Given the description of an element on the screen output the (x, y) to click on. 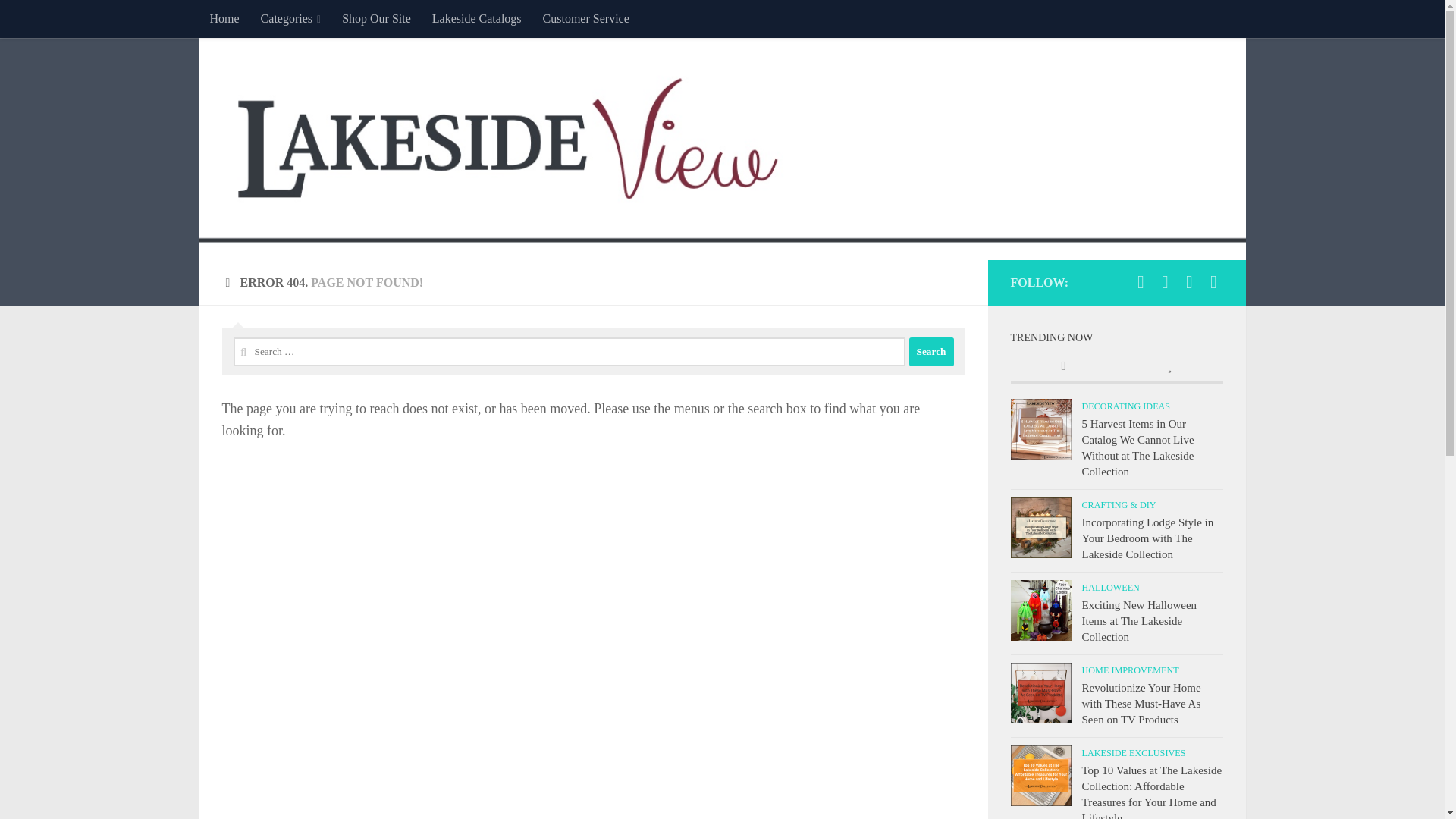
Home (223, 18)
Categories (290, 18)
Shop Our Site (376, 18)
Follow Us On Twitter (1164, 281)
Search (930, 351)
Skip to content (59, 20)
Popular Posts (1169, 367)
Search (930, 351)
Lakeside Catalogs (477, 18)
Follow Us On Pinterest (1213, 281)
